Given the description of an element on the screen output the (x, y) to click on. 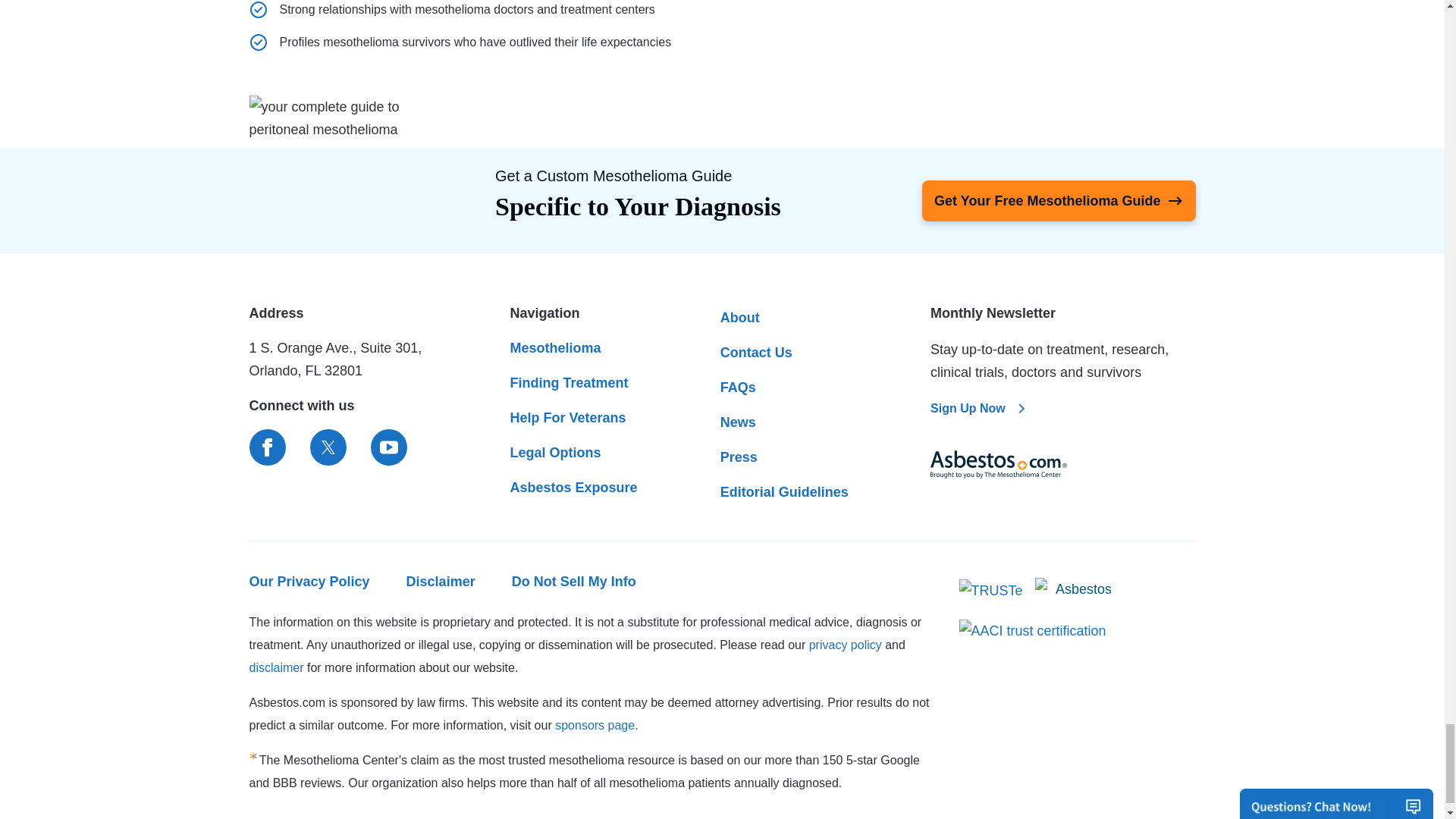
Asbestos.com, LLC, Health Care, Orlando, FL (1072, 592)
